Given the description of an element on the screen output the (x, y) to click on. 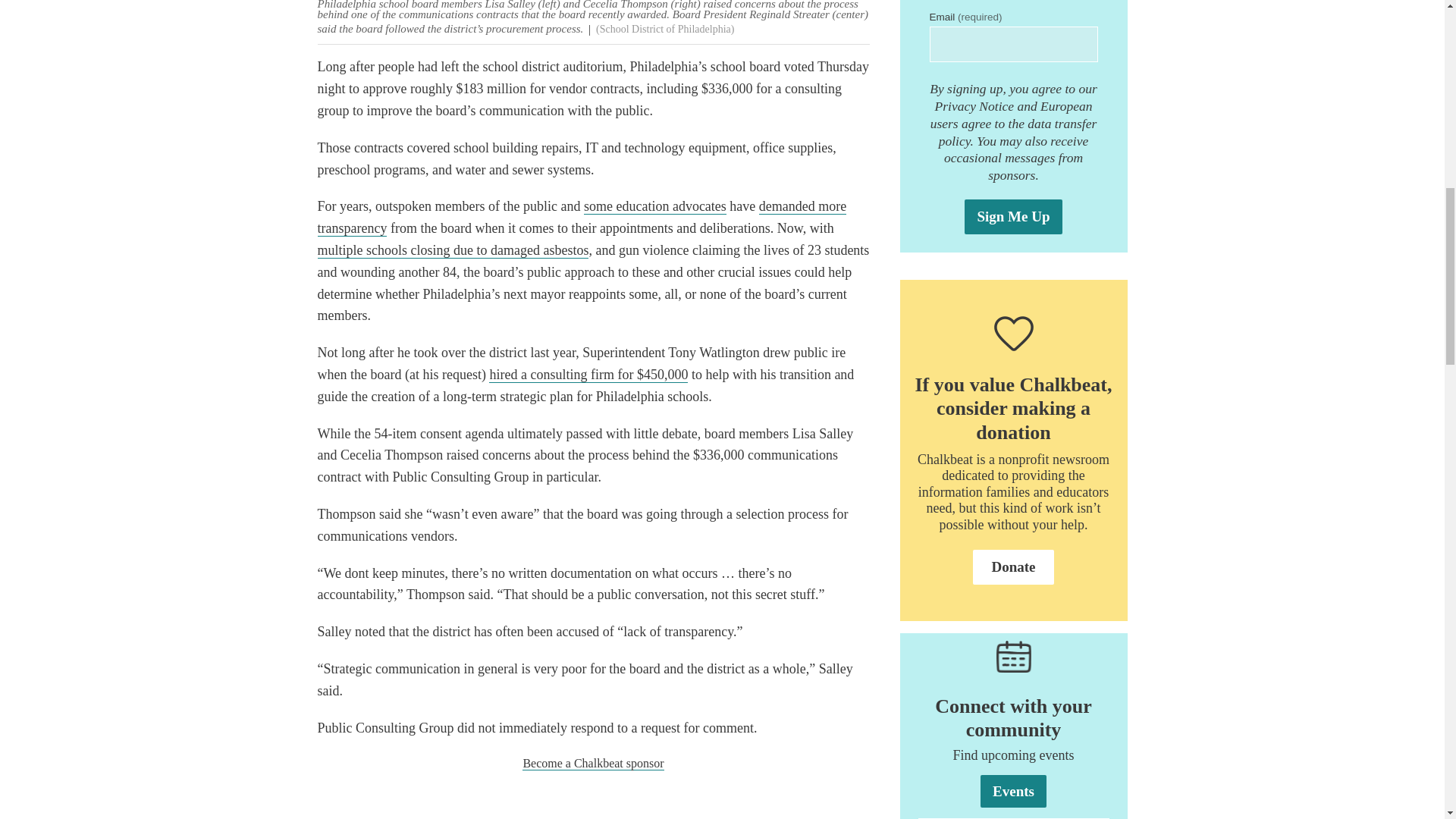
some education advocates (654, 206)
Become a Chalkbeat sponsor (592, 763)
multiple schools closing due to damaged asbestos (452, 250)
demanded more transparency (581, 217)
